Given the description of an element on the screen output the (x, y) to click on. 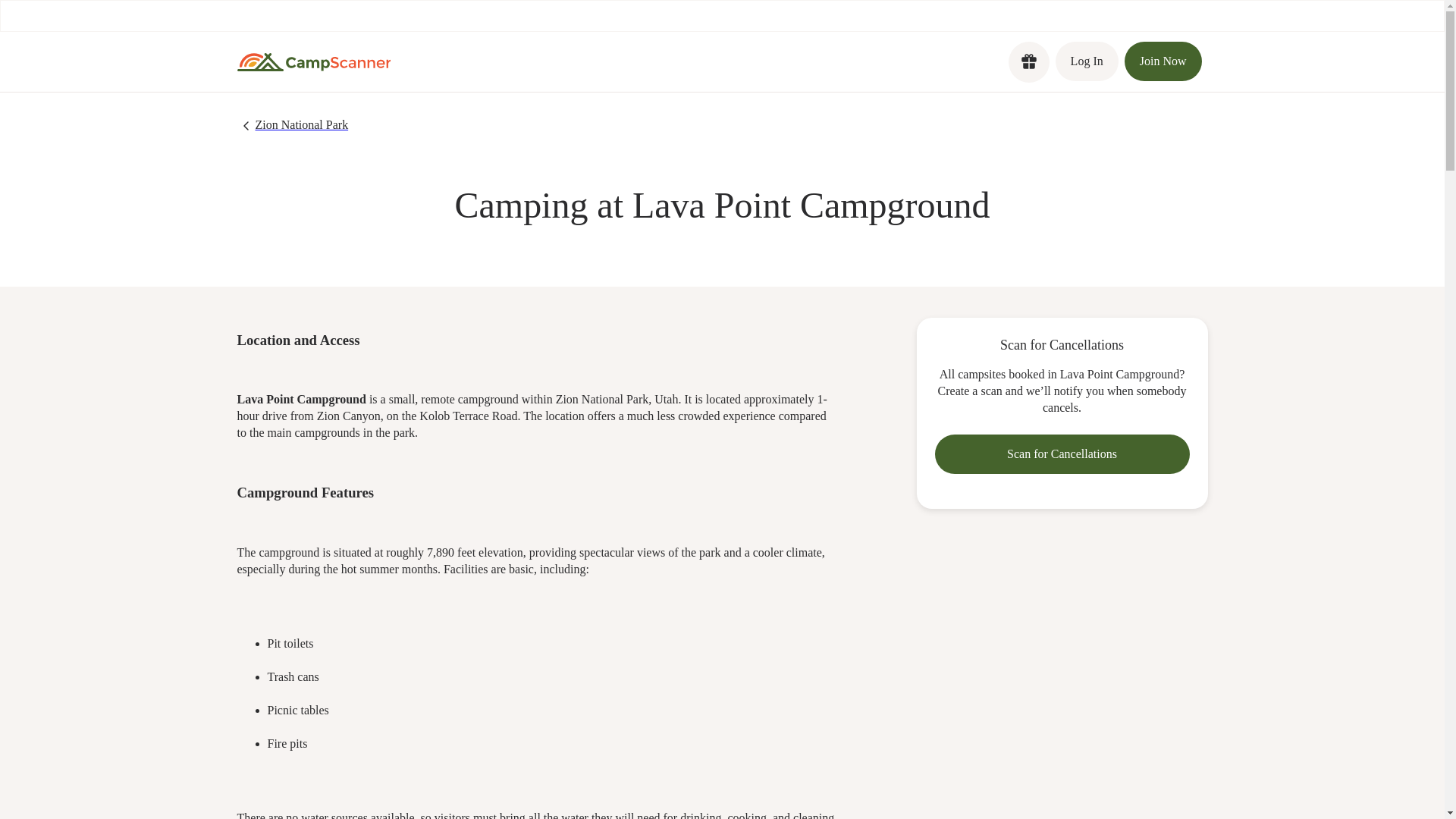
Zion National Park (291, 126)
Scan for Cancellations (1061, 454)
